Given the description of an element on the screen output the (x, y) to click on. 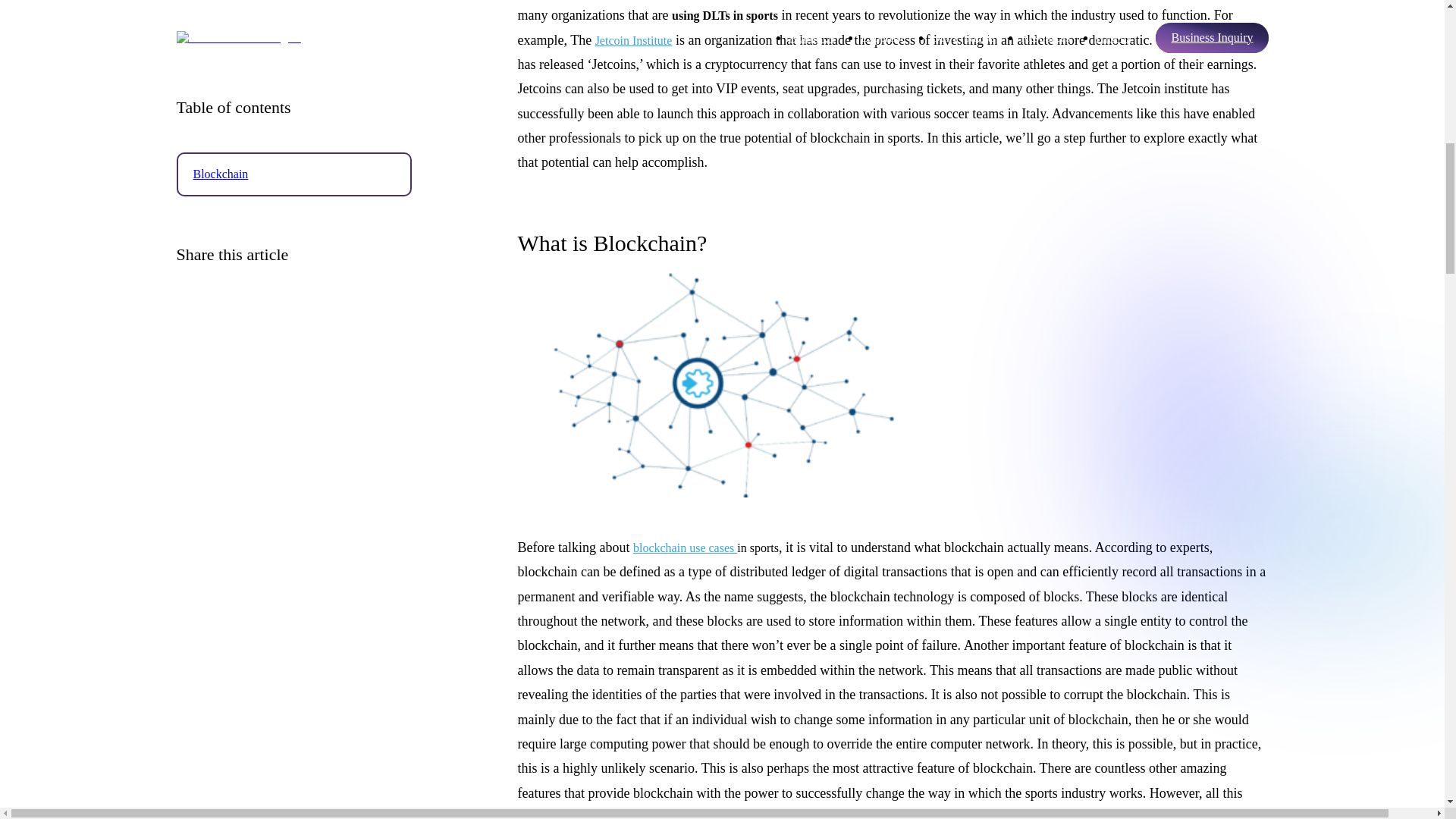
blockchain use cases (684, 547)
Jetcoin Institute (633, 40)
